Given the description of an element on the screen output the (x, y) to click on. 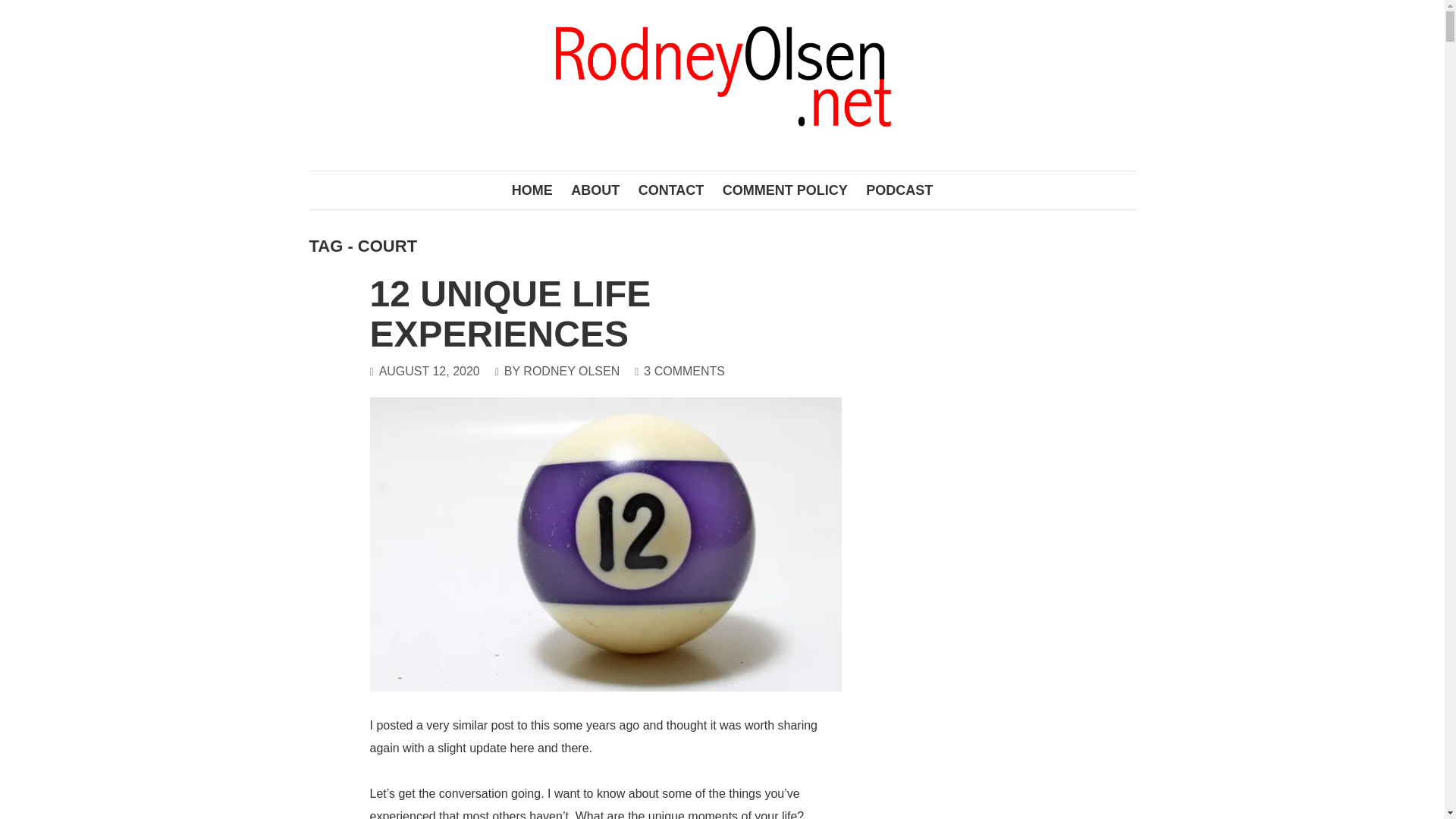
3 COMMENTS (684, 370)
COMMENT POLICY (785, 190)
CONTACT (670, 190)
RODNEY OLSEN (571, 370)
PODCAST (899, 190)
ABOUT (595, 190)
HOME (531, 190)
12 UNIQUE LIFE EXPERIENCES (509, 313)
